Given the description of an element on the screen output the (x, y) to click on. 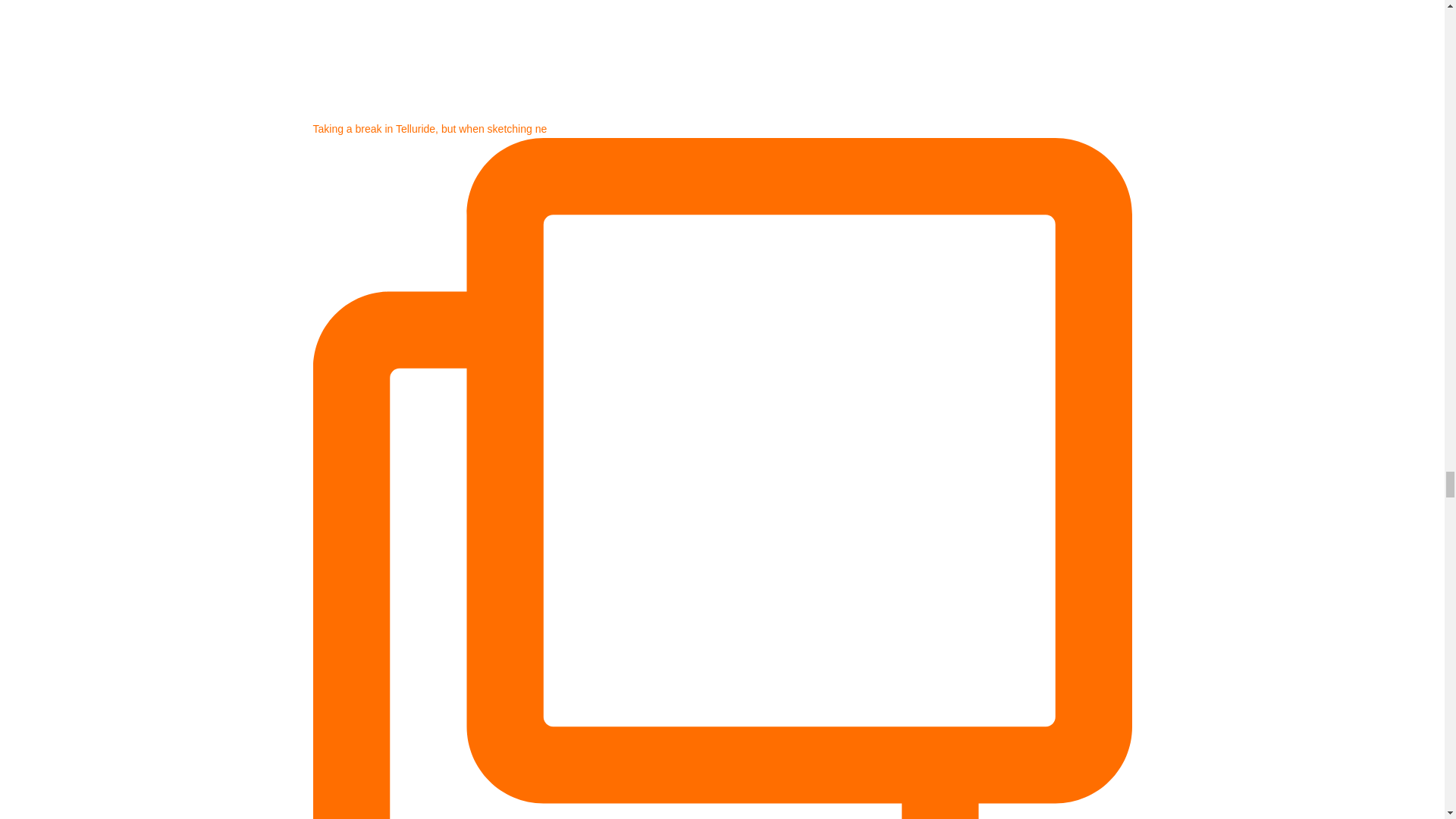
On the boards: a new custom Georgia Farm House! (691, 58)
